Given the description of an element on the screen output the (x, y) to click on. 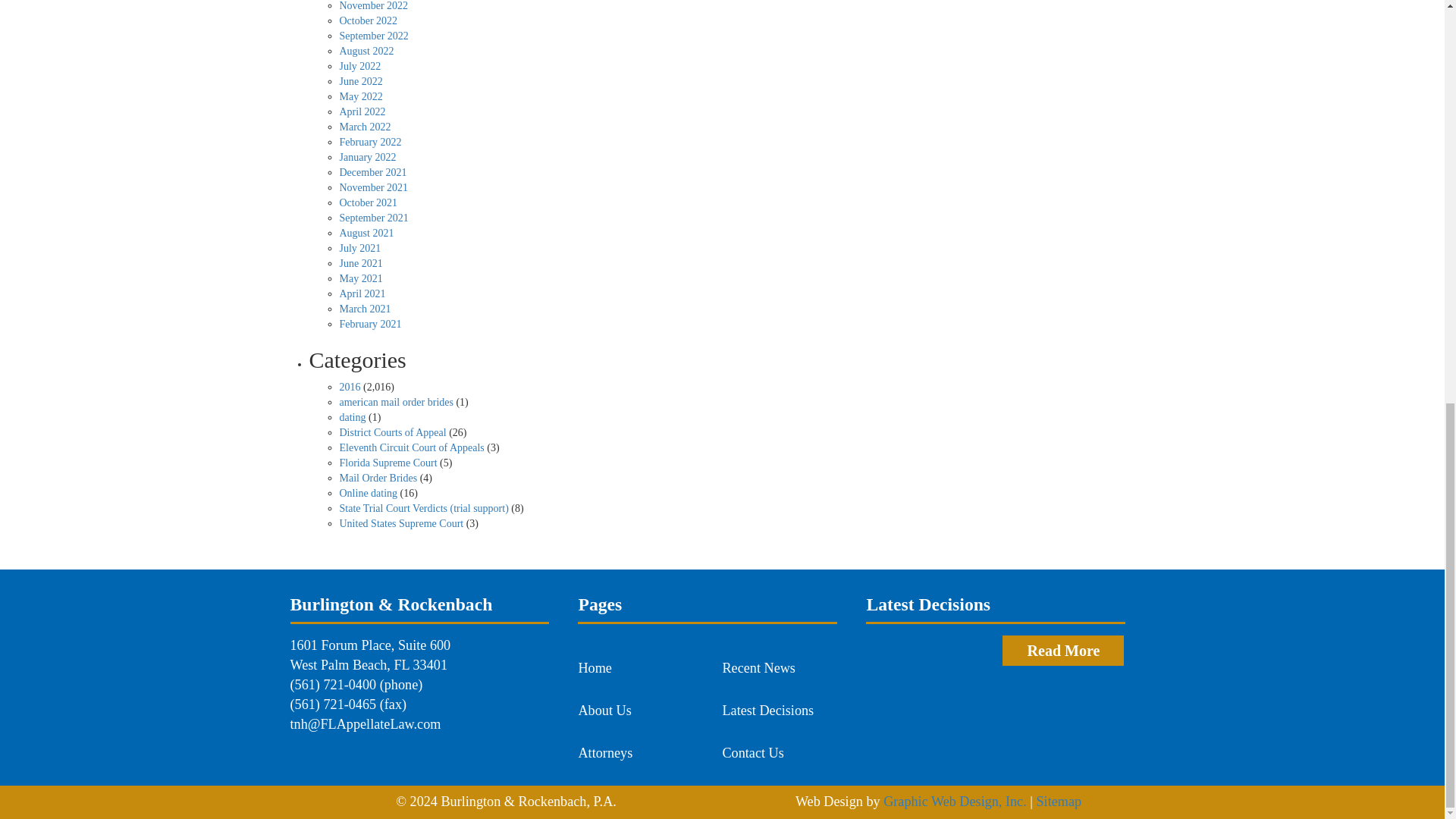
Web Designer West Palm Beach (954, 801)
